Given the description of an element on the screen output the (x, y) to click on. 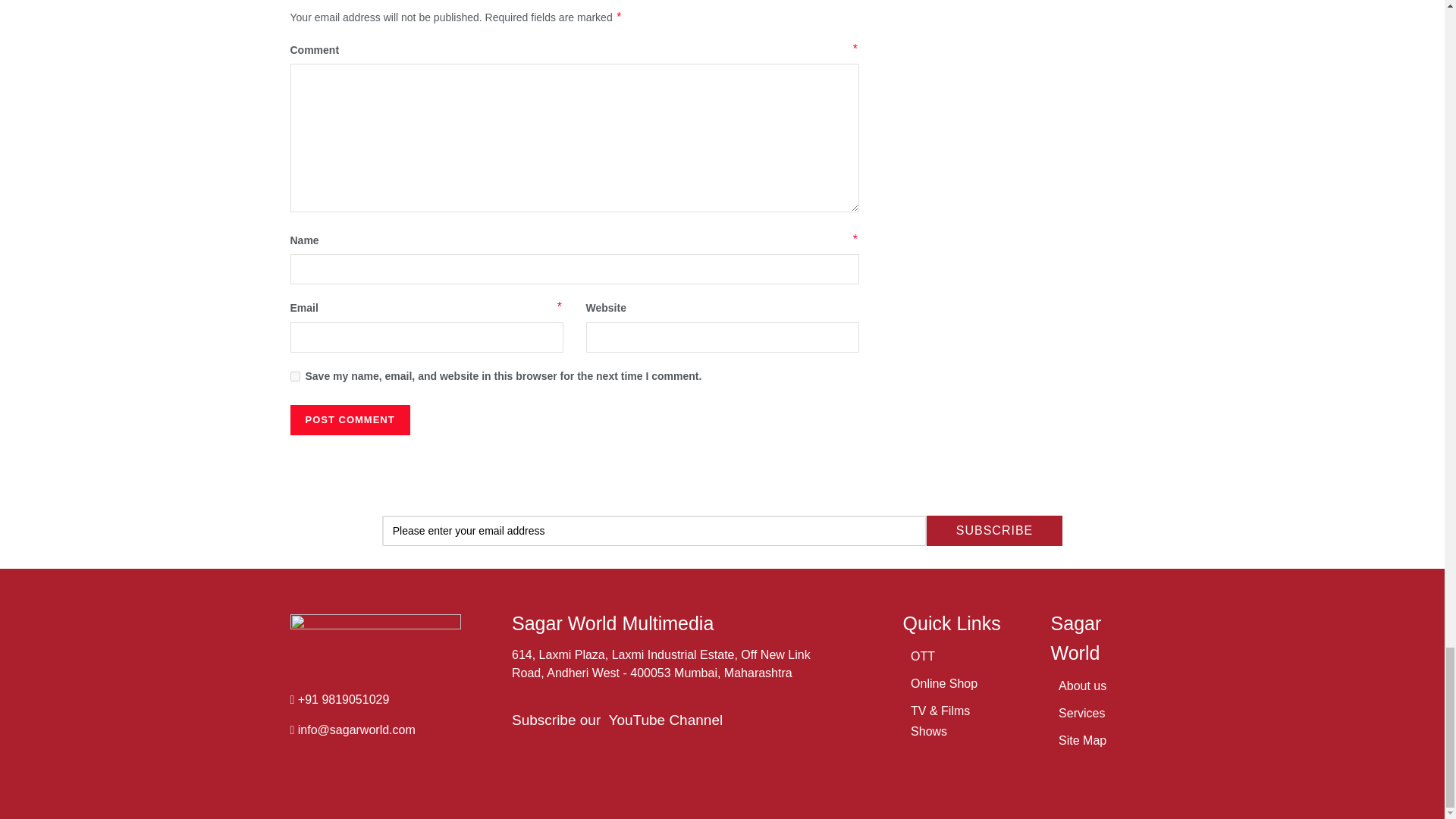
Post Comment (349, 419)
Subscribe (994, 530)
yes (294, 376)
footerimage (374, 641)
